Given the description of an element on the screen output the (x, y) to click on. 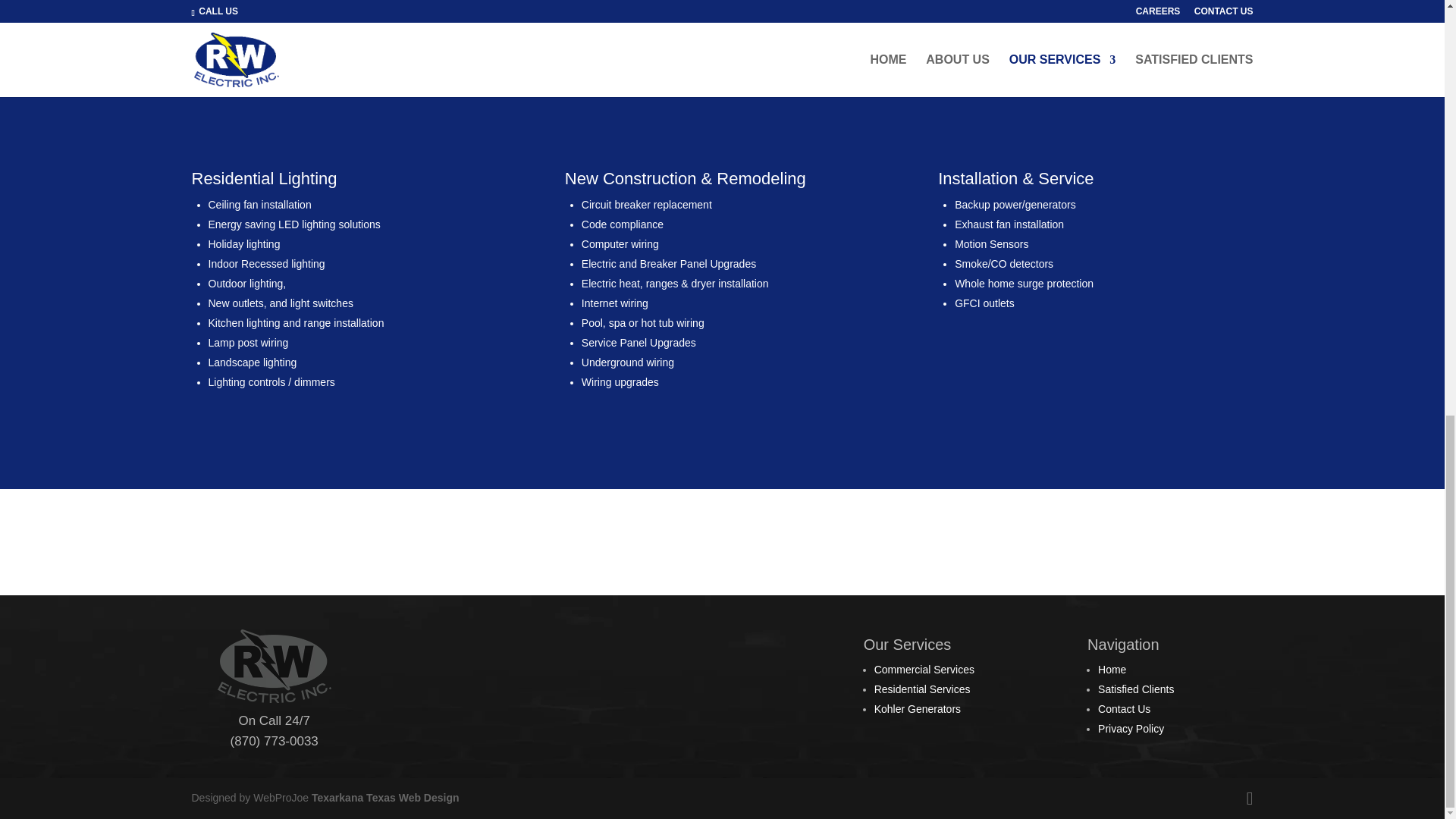
Satisfied Clients (1135, 689)
Texarkana Texas Web Design (385, 797)
Contact Us (1123, 708)
Residential Services (923, 689)
Privacy Policy (1130, 728)
Commercial Services (924, 669)
Home (1111, 669)
Kohler Generators (917, 708)
